Given the description of an element on the screen output the (x, y) to click on. 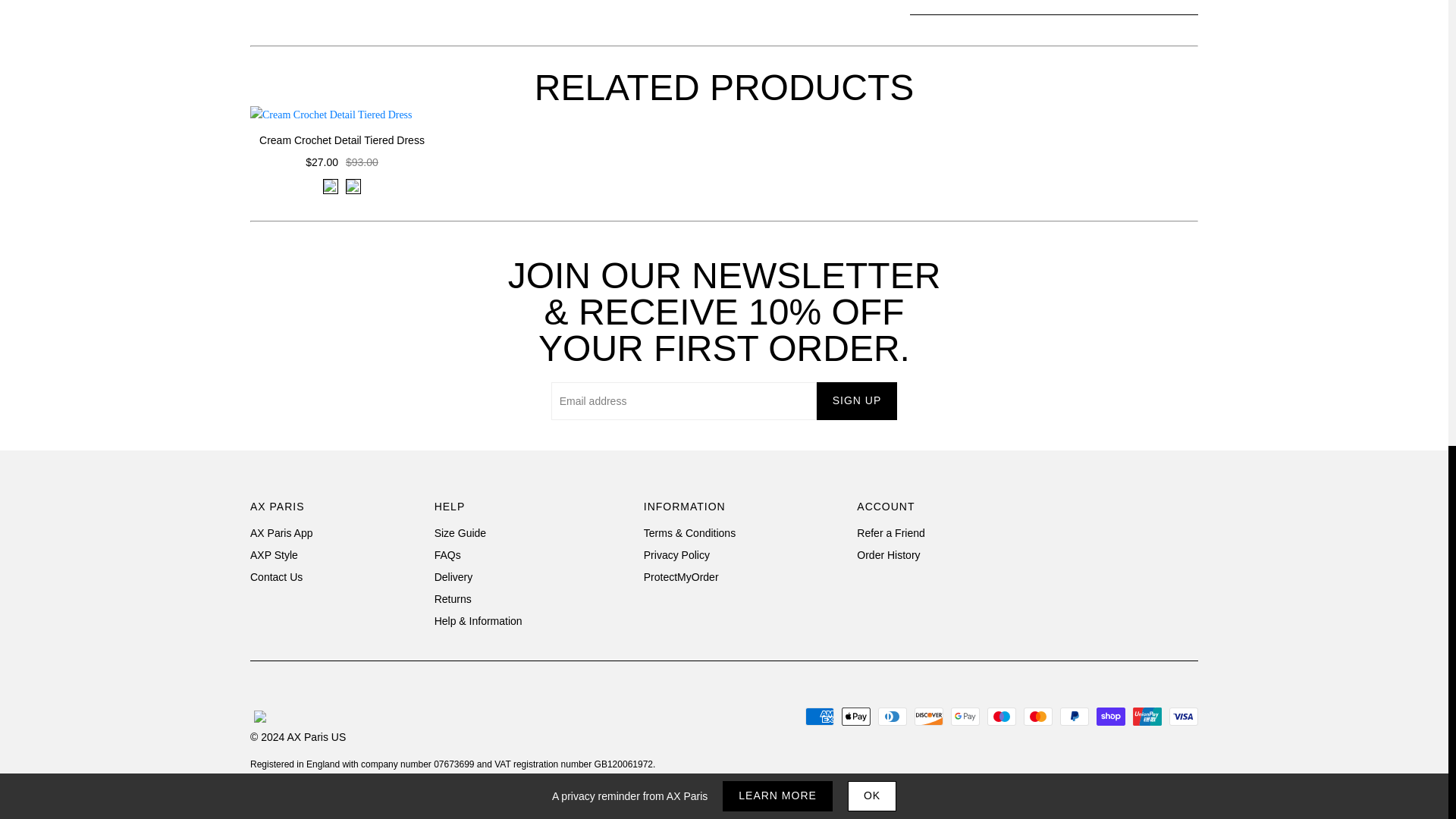
Union Pay (1146, 716)
Customer reviews powered by Trustpilot (1122, 552)
PayPal (1074, 716)
Google Pay (964, 716)
Discover (928, 716)
American Express (819, 716)
Diners Club (892, 716)
Cream Crochet Detail Tiered Dress (341, 140)
Apple Pay (855, 716)
Maestro (1001, 716)
